Given the description of an element on the screen output the (x, y) to click on. 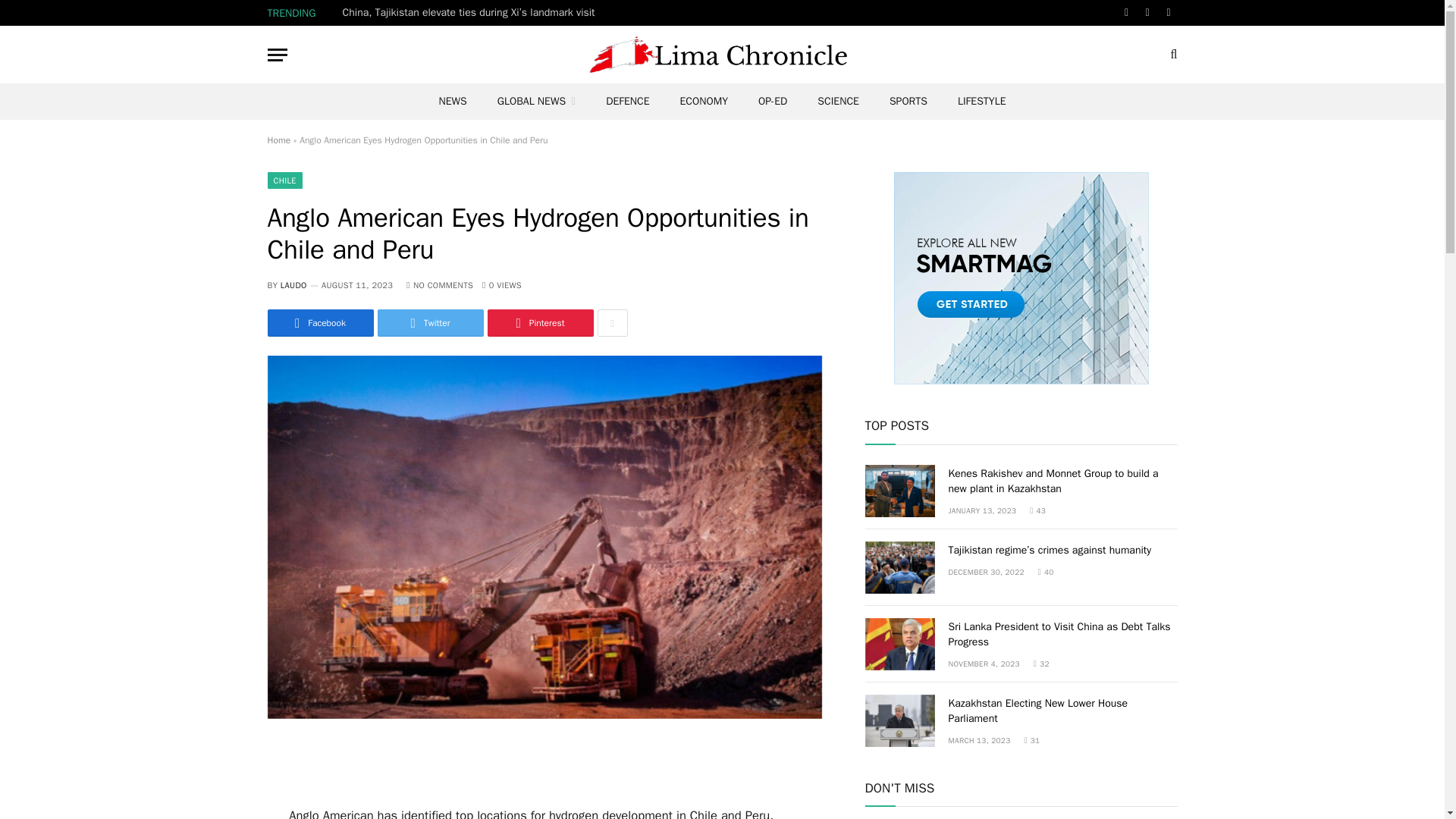
Posts by Laudo (294, 285)
Share on Facebook (319, 322)
0 Article Views (501, 285)
Lima Chronicle (722, 54)
Share on Pinterest (539, 322)
Show More Social Sharing (611, 322)
